Given the description of an element on the screen output the (x, y) to click on. 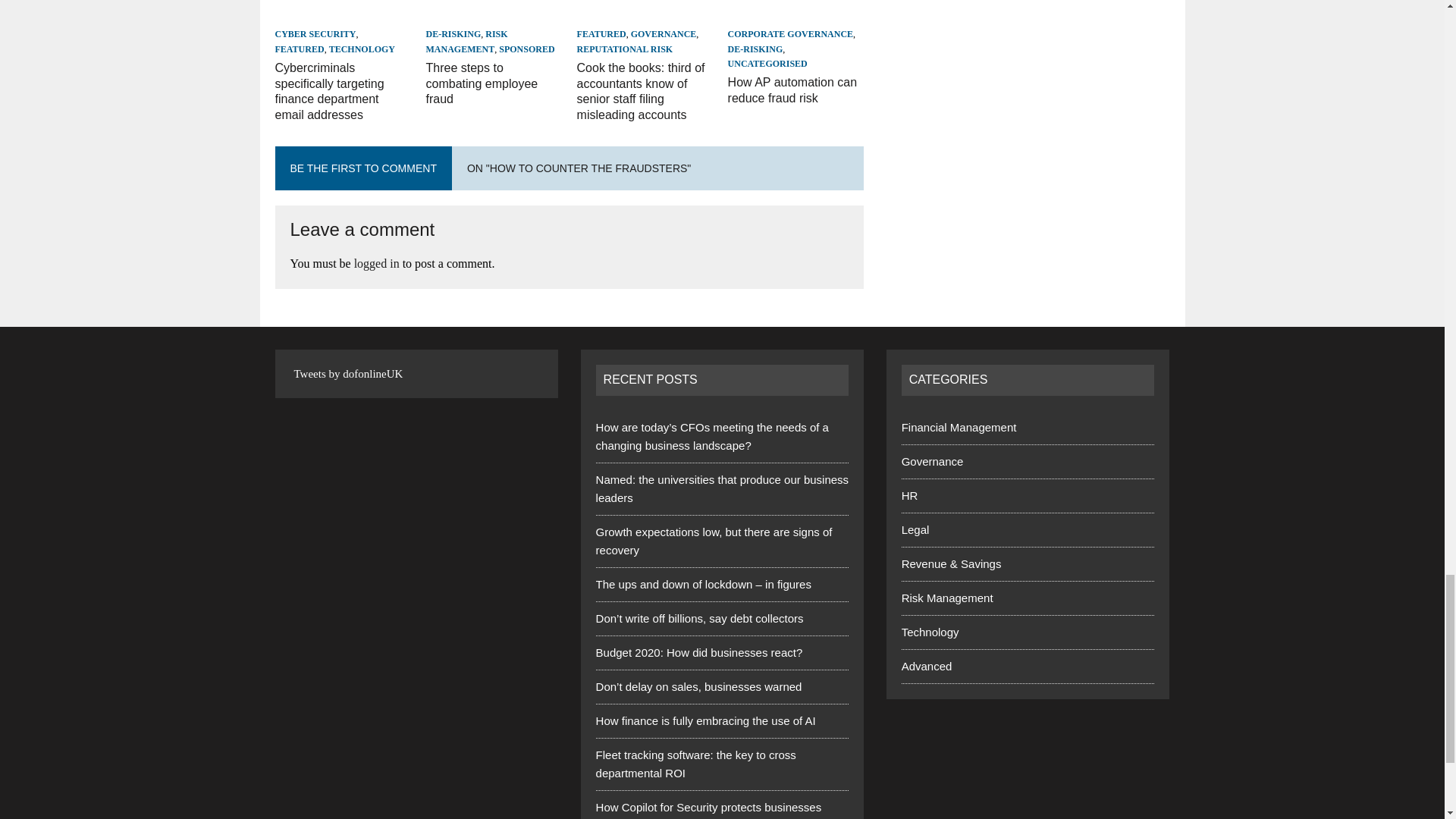
How AP automation can reduce fraud risk (796, 13)
Three steps to combating employee fraud (482, 83)
Three steps to combating employee fraud (494, 13)
